Given the description of an element on the screen output the (x, y) to click on. 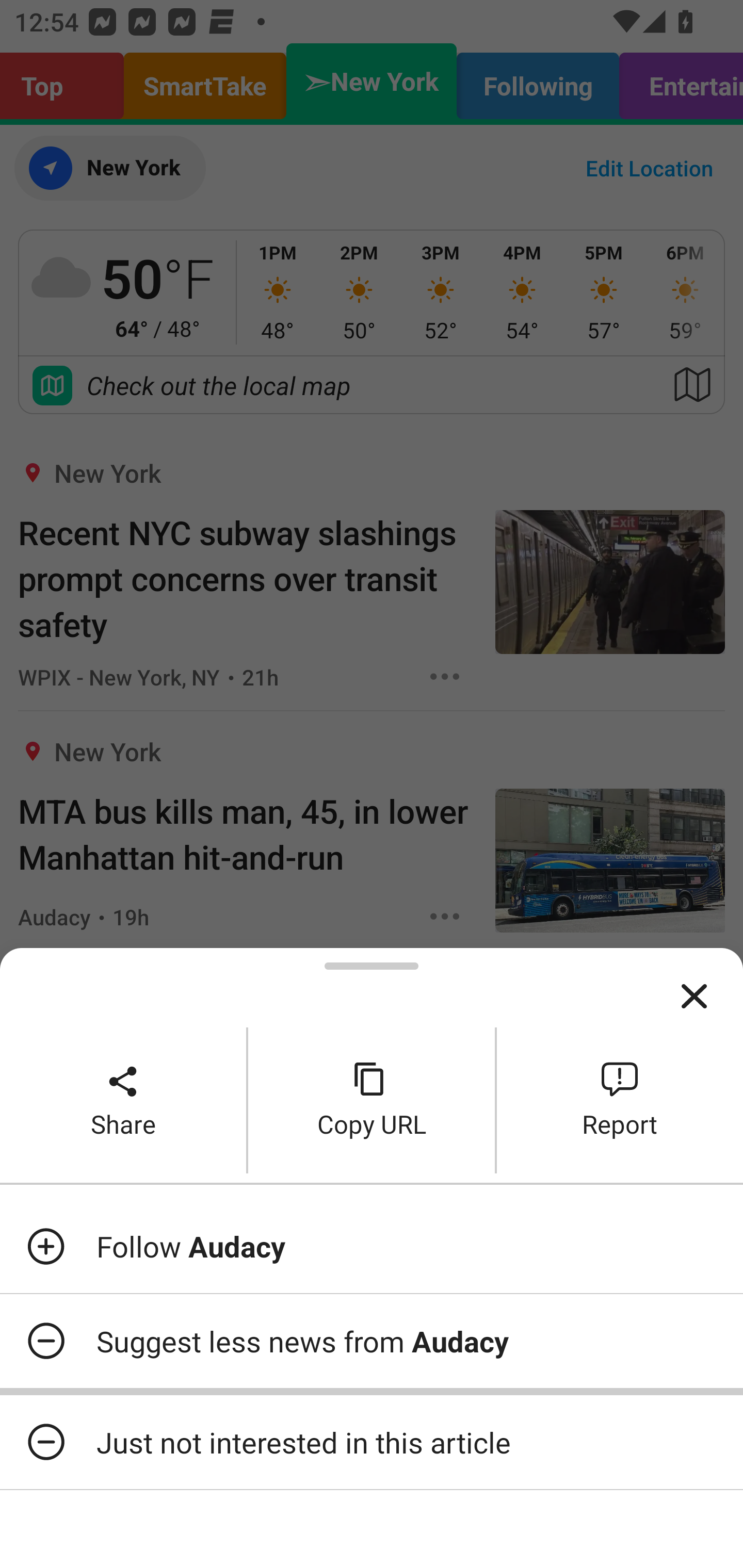
Close (694, 996)
Share (122, 1099)
Copy URL (371, 1099)
Report (620, 1099)
Follow Audacy (371, 1246)
Suggest less news from Audacy (371, 1340)
Just not interested in this article (371, 1442)
